Given the description of an element on the screen output the (x, y) to click on. 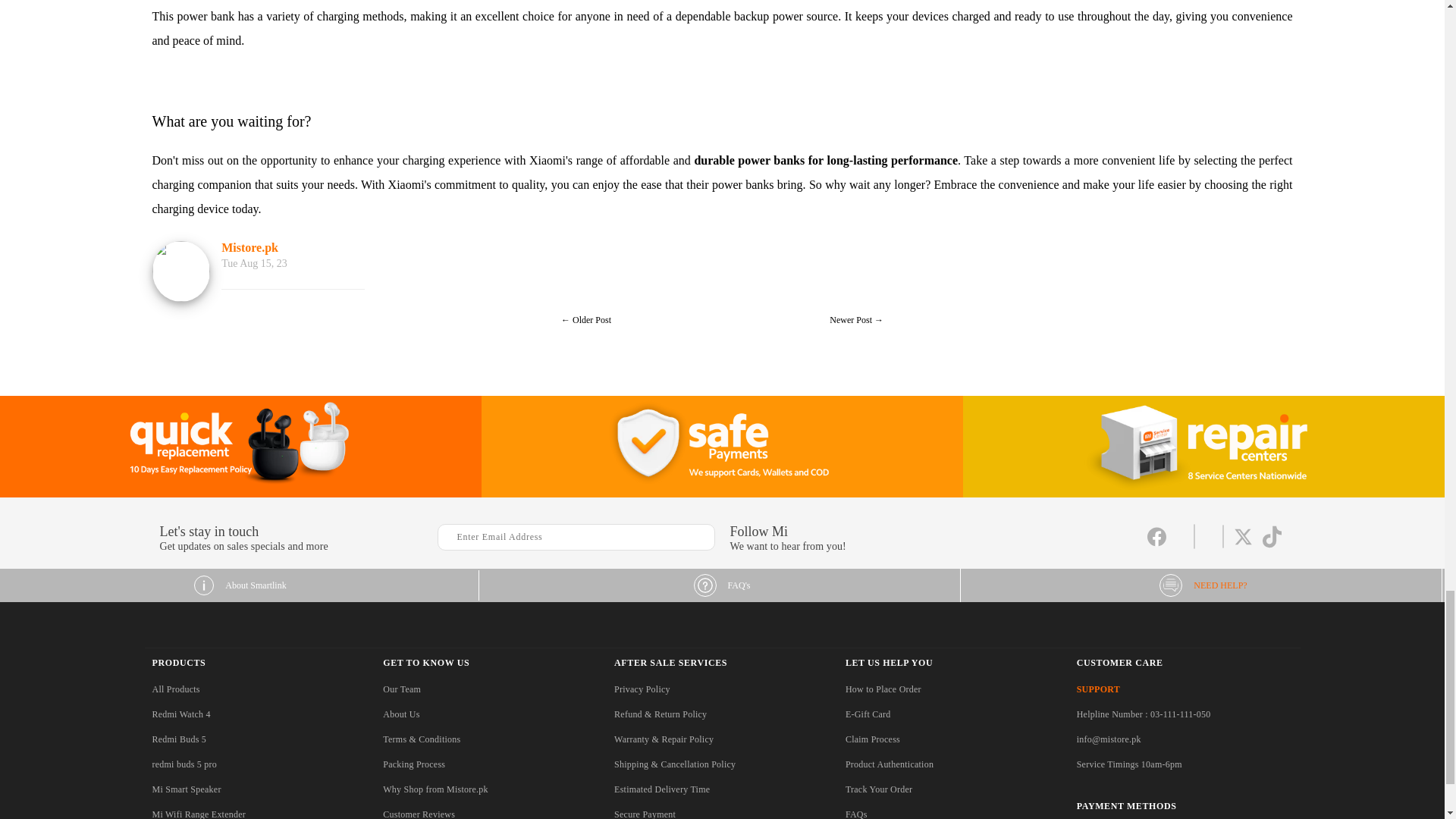
tiktok (1271, 544)
twitter (1242, 544)
Facebook (1156, 544)
